Given the description of an element on the screen output the (x, y) to click on. 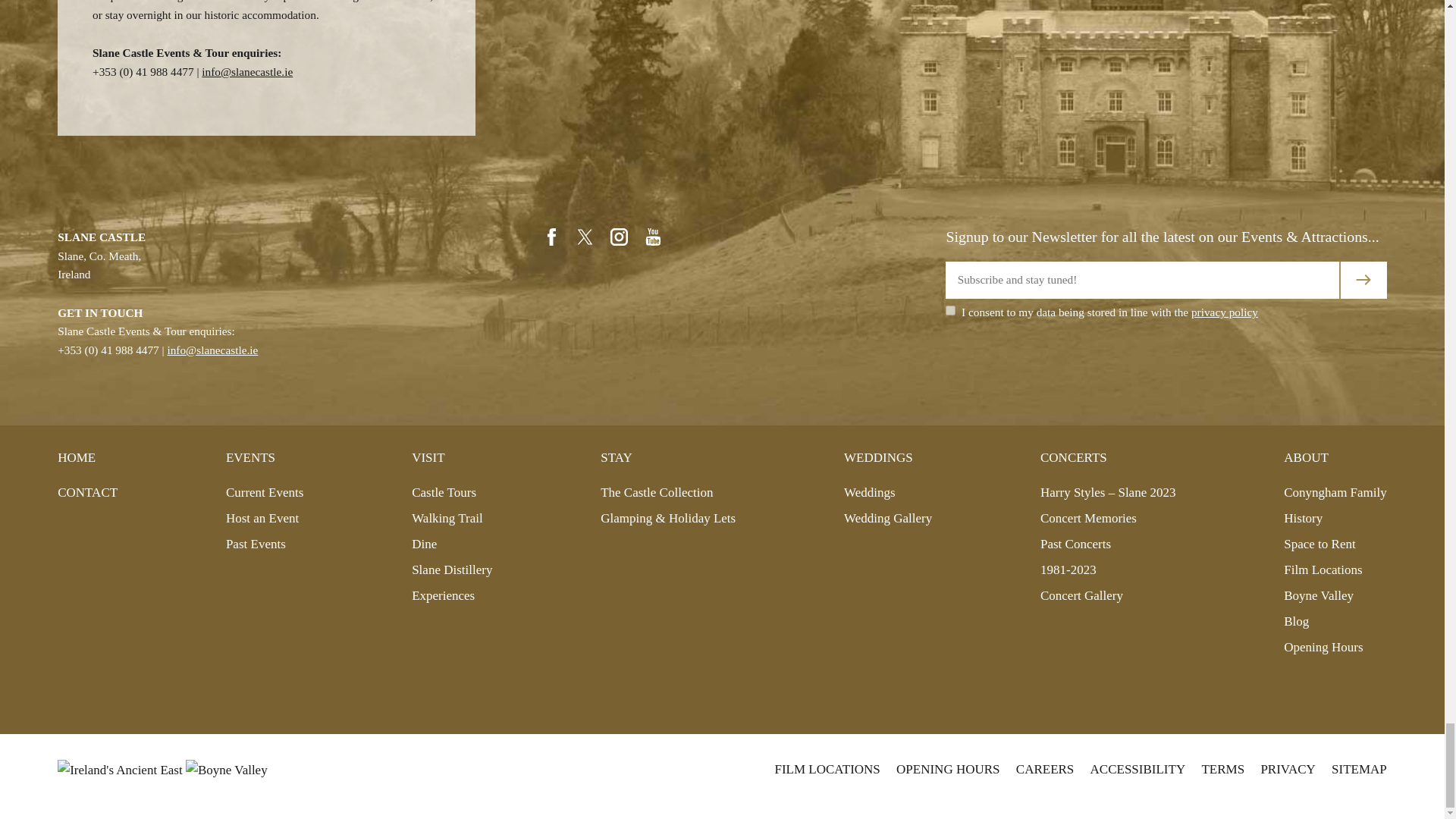
Instagram (618, 236)
YouTube (653, 236)
Subscribe (1363, 279)
Twitter (585, 236)
Facebook (551, 236)
Y (949, 310)
